Given the description of an element on the screen output the (x, y) to click on. 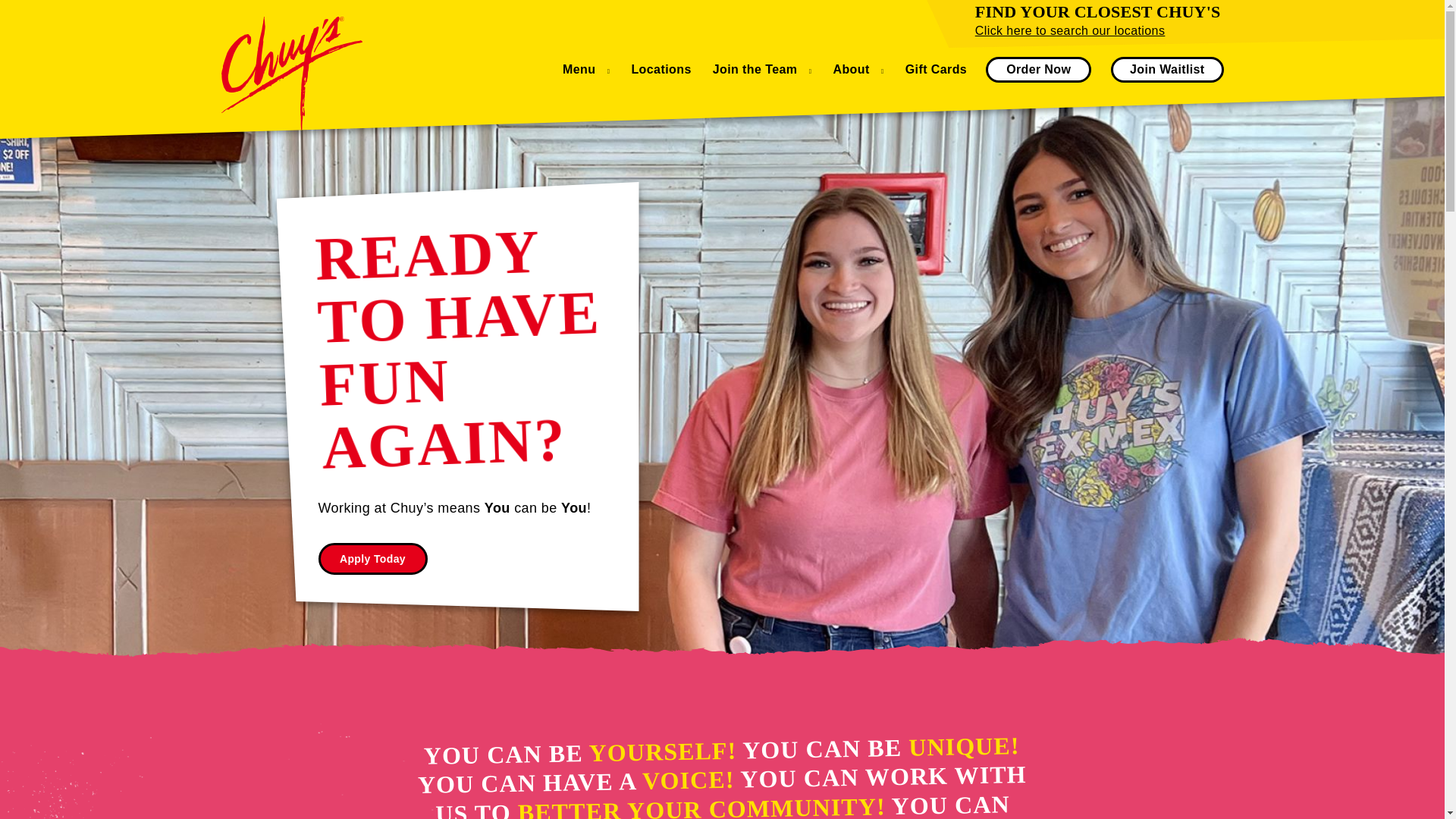
Order Now (1037, 69)
Gift Cards (935, 69)
Click here to search our locations (1070, 30)
Join Waitlist (1166, 69)
Locations (660, 69)
